Given the description of an element on the screen output the (x, y) to click on. 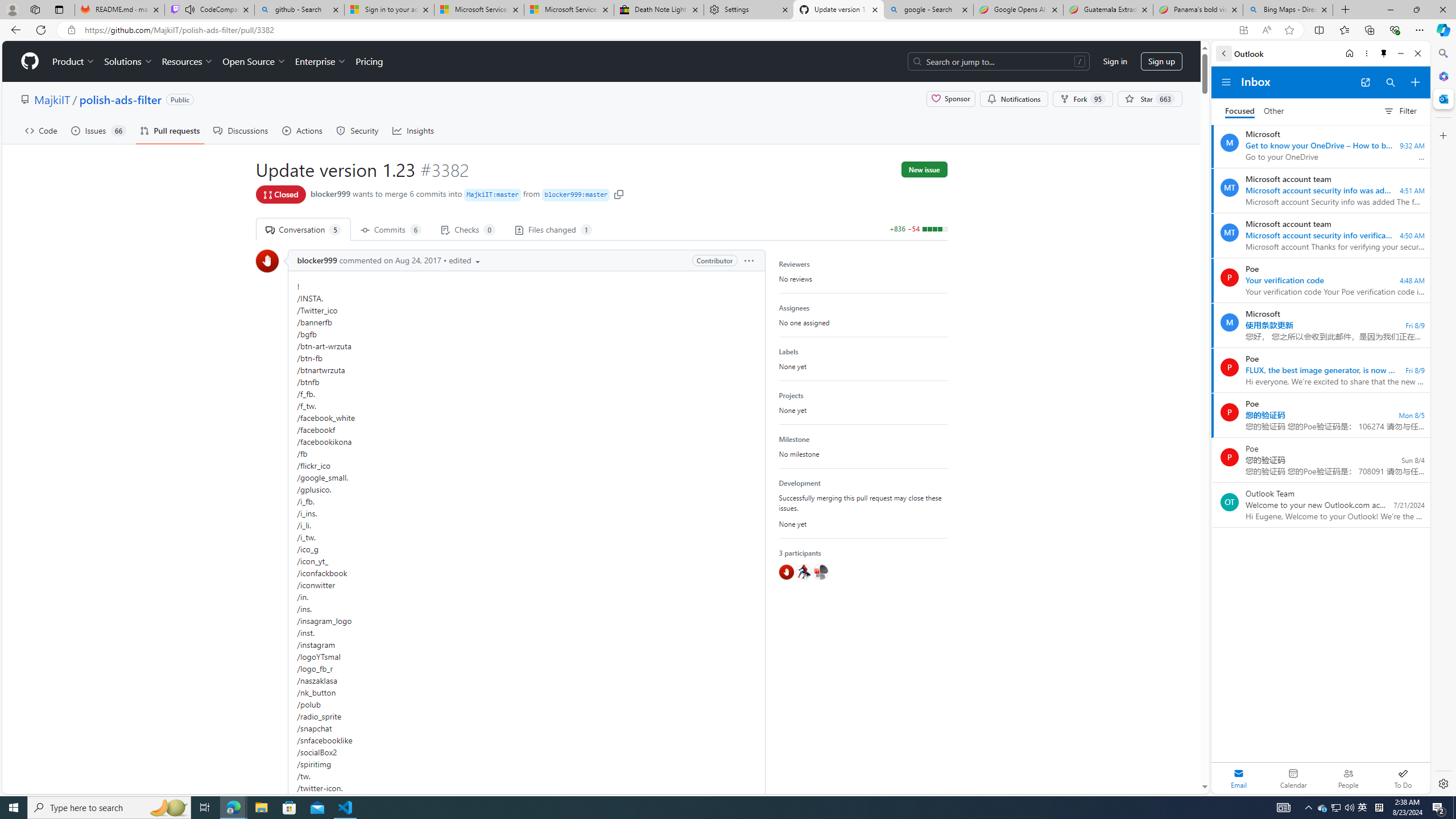
Focused (1239, 110)
Fork 95 (1082, 98)
Folder navigation (1225, 82)
Pricing (368, 60)
blocker999 (266, 260)
Issues 66 (98, 130)
blocker999 : master (576, 195)
Sponsor MajkiIT/polish-ads-filter (950, 98)
@MajkiIT (820, 572)
